Given the description of an element on the screen output the (x, y) to click on. 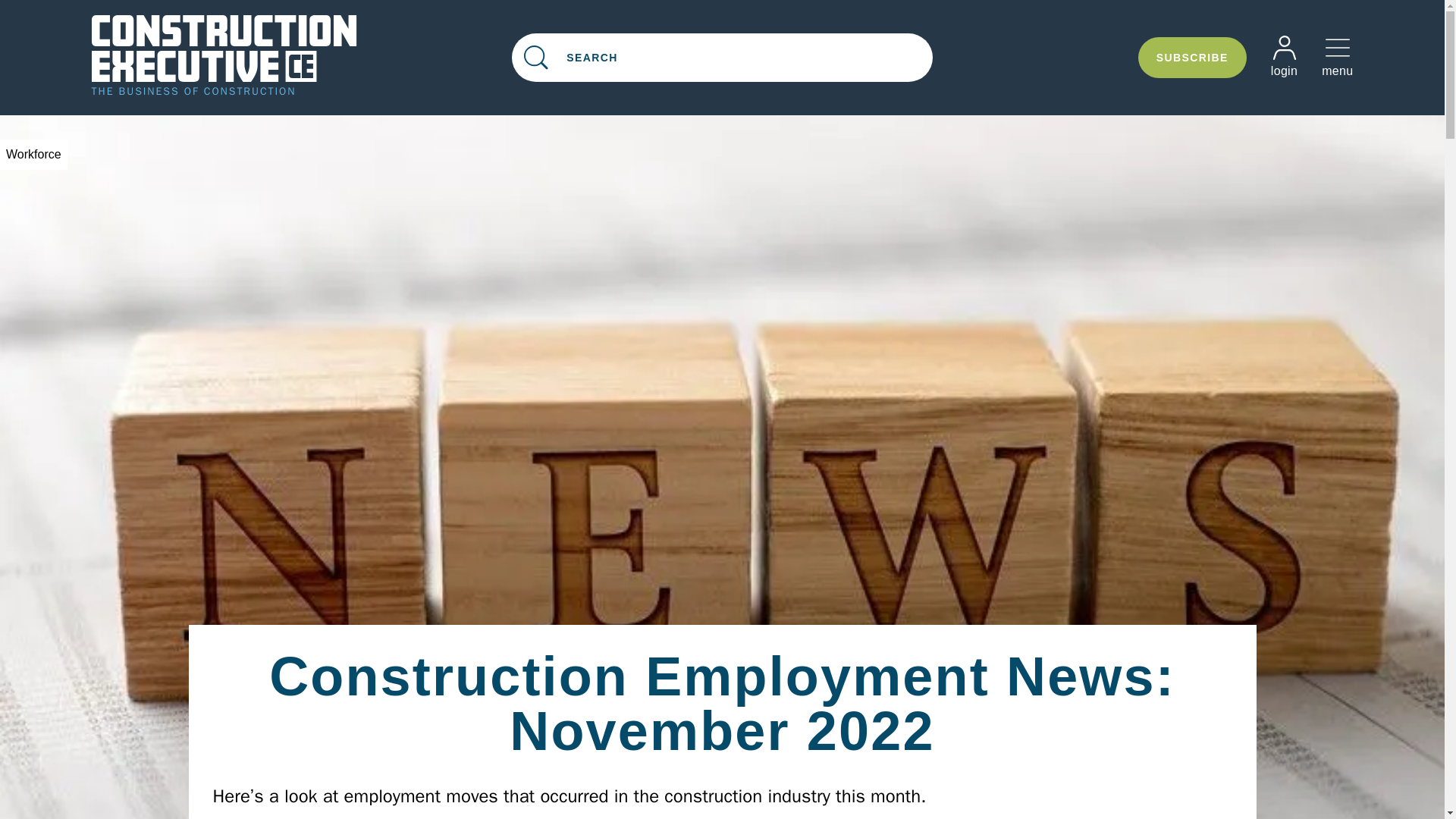
SUBSCRIBE (1192, 56)
SEARCH (722, 57)
